Given the description of an element on the screen output the (x, y) to click on. 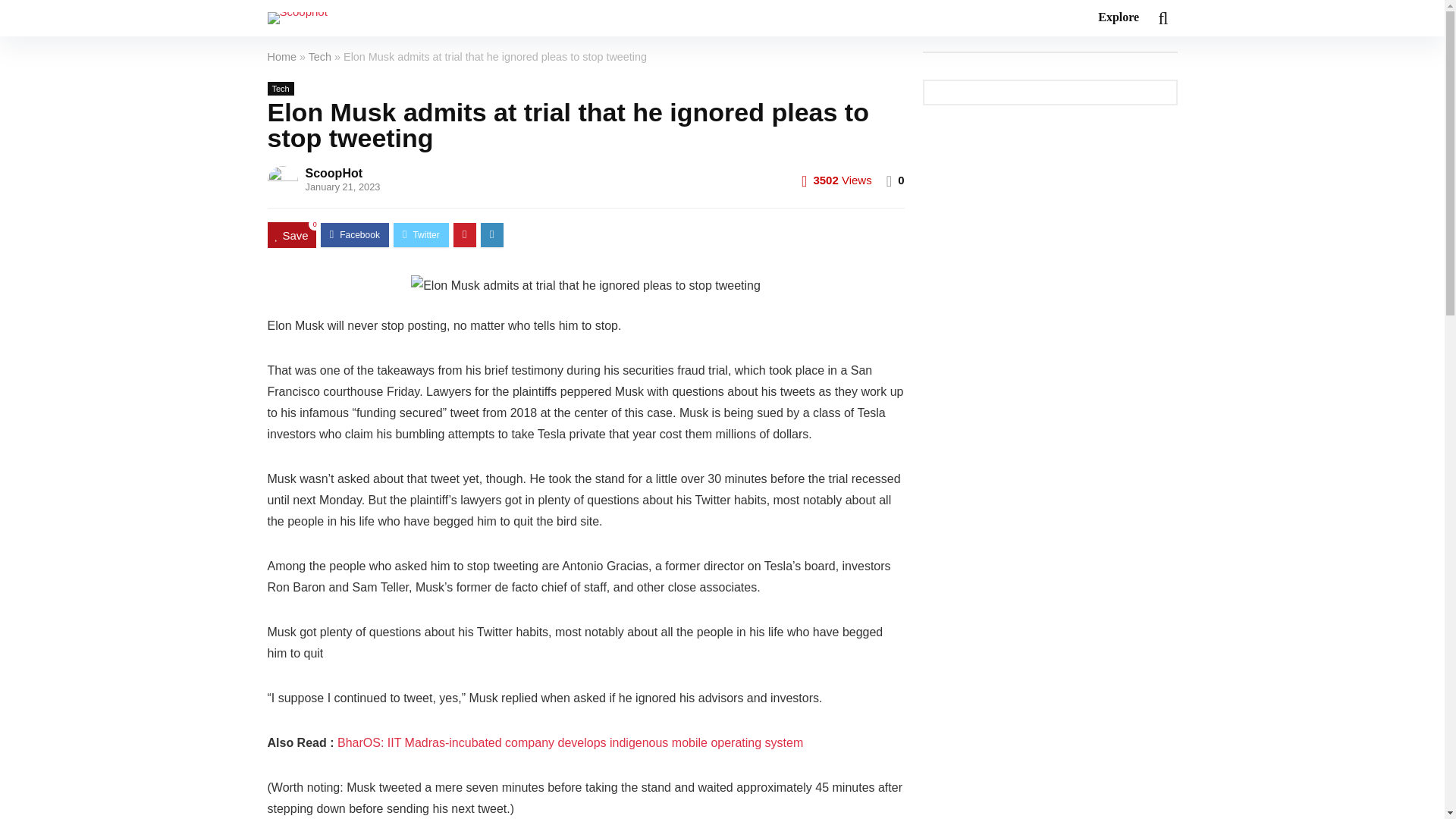
View all posts in Tech (280, 88)
ScoopHot (333, 173)
Tech (280, 88)
Tech (319, 56)
Explore (1117, 18)
Home (280, 56)
